Given the description of an element on the screen output the (x, y) to click on. 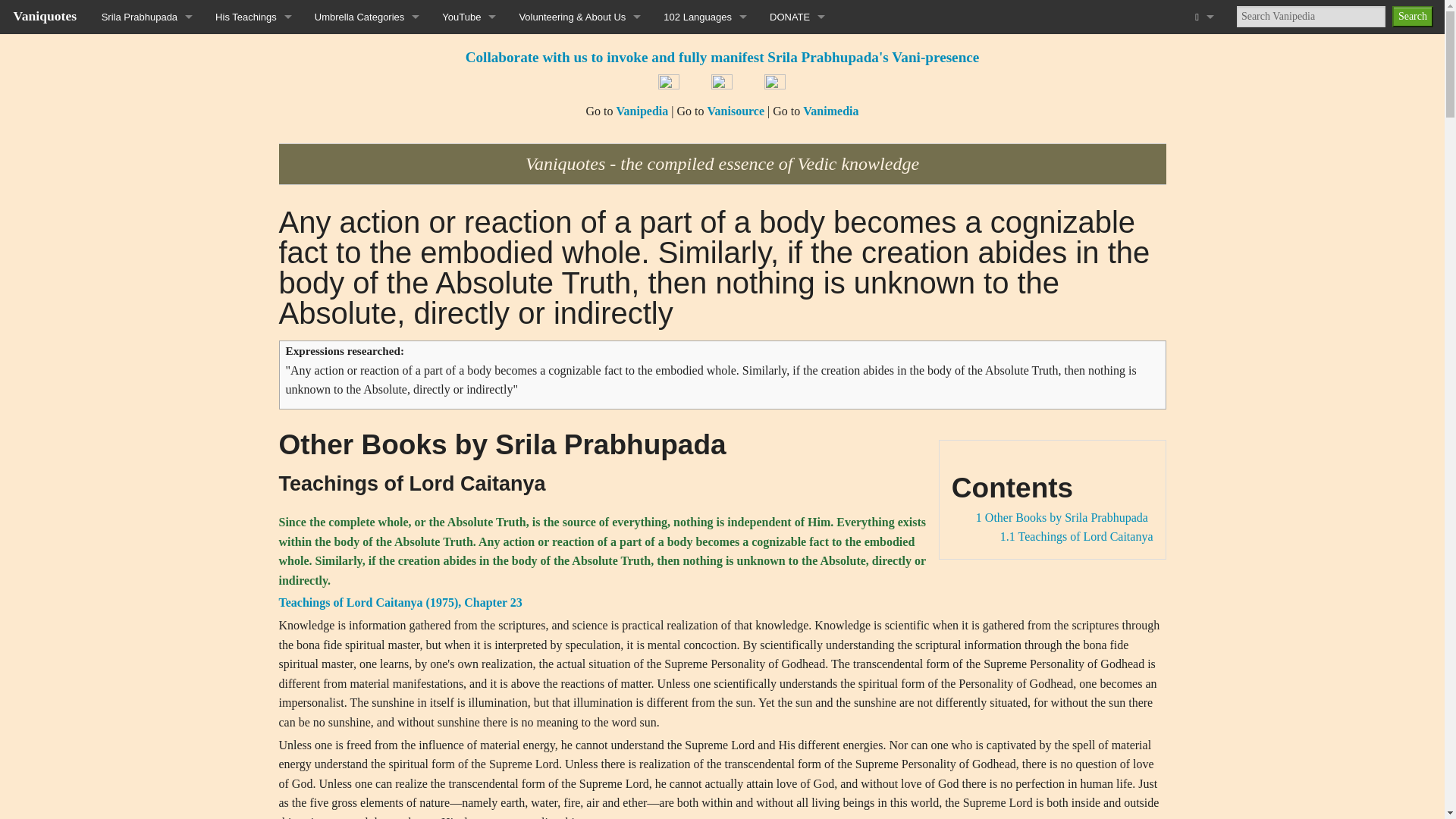
Search (1411, 16)
vanipedia:Main Page (641, 110)
Srila Prabhupada (146, 17)
vanisource:Main Page (735, 110)
Vaniquotes (44, 15)
vanimedia:Main Page (831, 110)
